Given the description of an element on the screen output the (x, y) to click on. 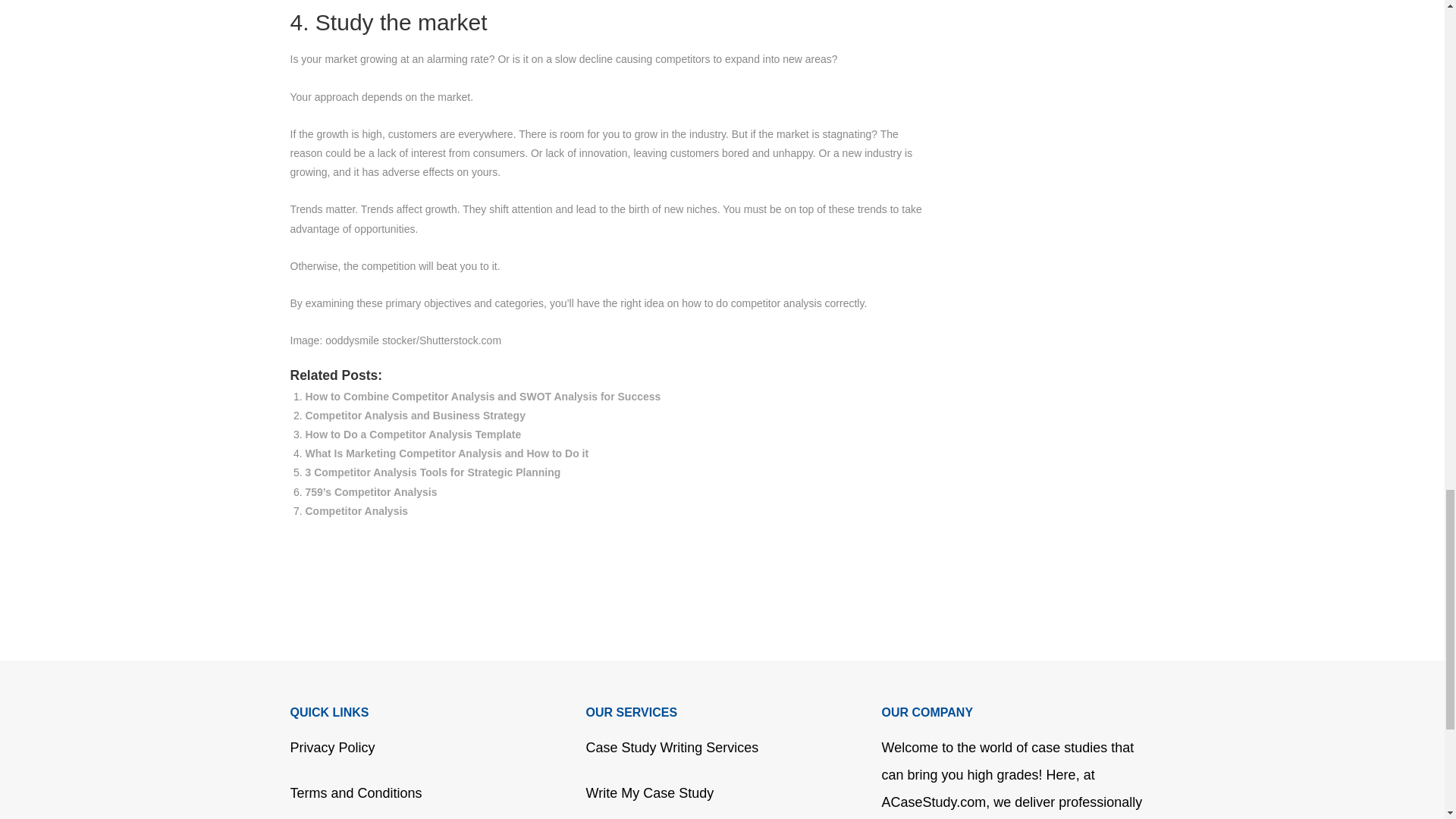
3 Competitor Analysis Tools for Strategic Planning (432, 472)
What Is Marketing Competitor Analysis and How to Do it (446, 453)
Competitor Analysis and Business Strategy (414, 415)
How to Do a Competitor Analysis Template (412, 434)
Competitor Analysis (355, 510)
